Given the description of an element on the screen output the (x, y) to click on. 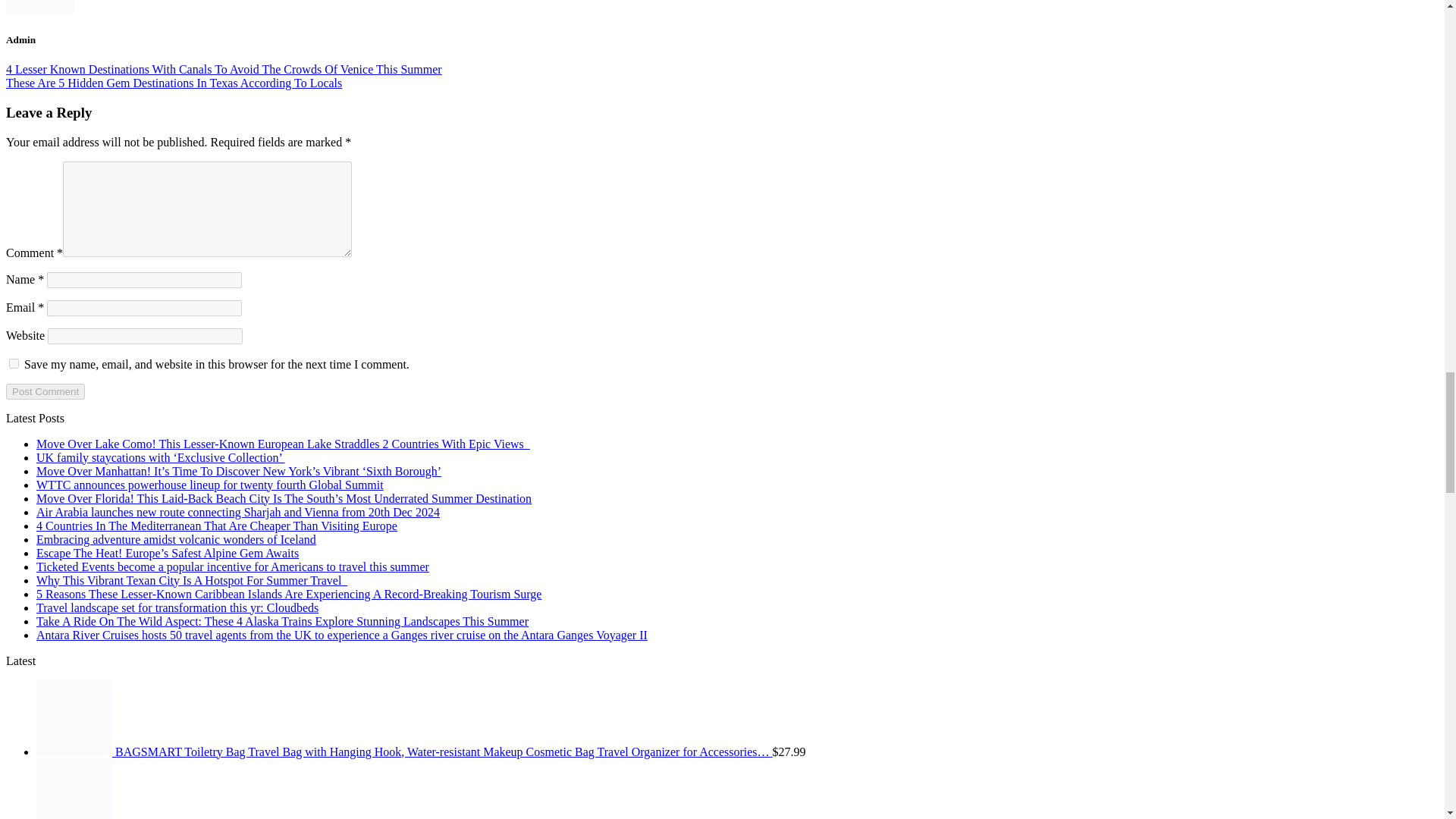
Embracing adventure amidst volcanic wonders of Iceland (175, 539)
yes (13, 363)
Post Comment (44, 391)
